Given the description of an element on the screen output the (x, y) to click on. 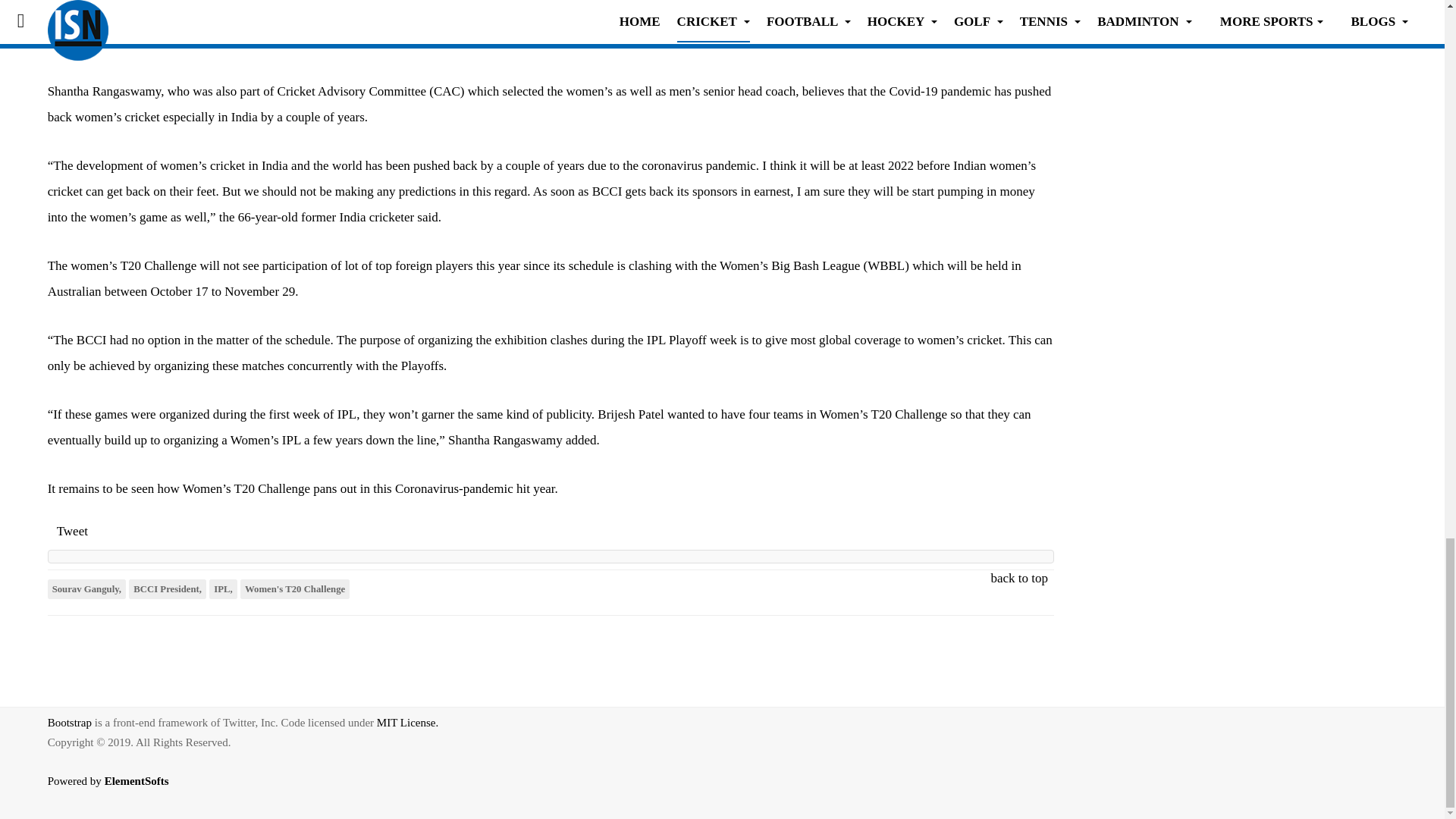
Back to Top (1411, 724)
Powered By ElementSofts (117, 792)
MIT License (407, 722)
Bootstrap by Twitter (69, 722)
